Given the description of an element on the screen output the (x, y) to click on. 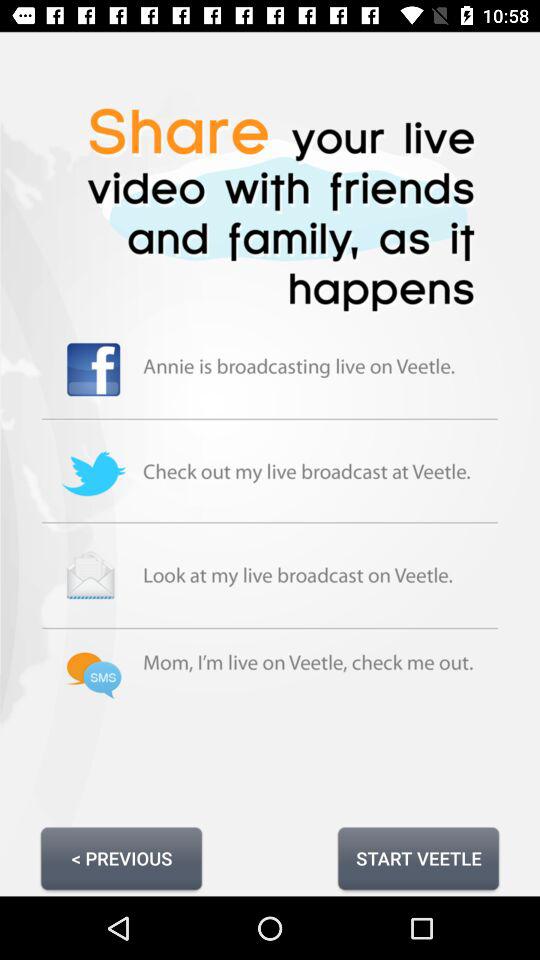
press icon to the right of the < previous button (418, 858)
